Given the description of an element on the screen output the (x, y) to click on. 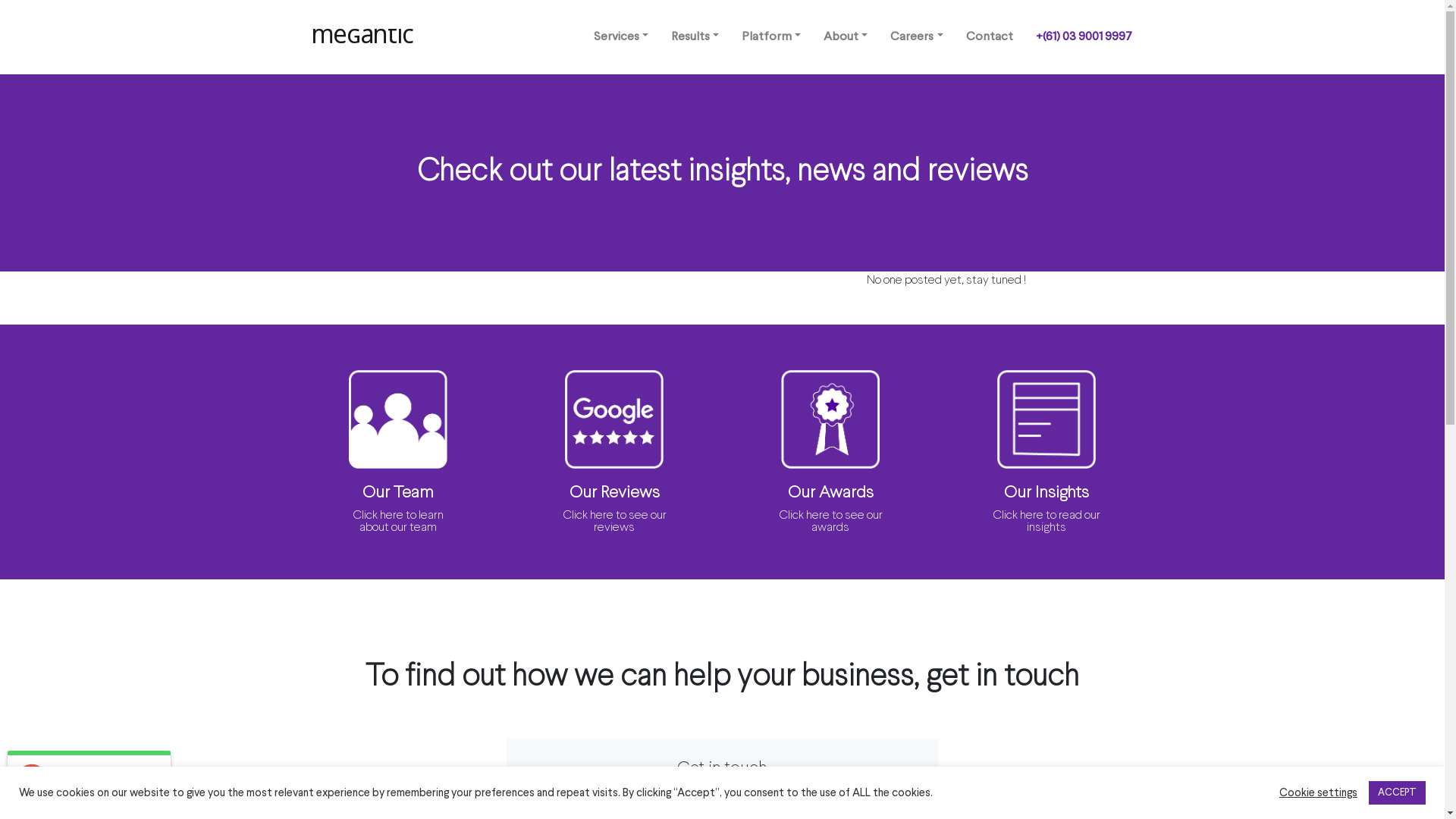
Cookie settings Element type: text (1318, 792)
Services Element type: text (620, 37)
ACCEPT Element type: text (1396, 792)
Results Element type: text (694, 37)
Our Team
Click here to learn
about our team Element type: text (398, 476)
megantic Element type: text (363, 37)
About Element type: text (845, 37)
Contact Element type: text (988, 37)
Our Insights
Click here to read our
insights Element type: text (1045, 476)
Our Reviews
Click here to see our
reviews Element type: text (613, 476)
Careers Element type: text (915, 37)
Our Awards
Click here to see our
awards Element type: text (830, 476)
Platform Element type: text (771, 37)
+(61) 03 9001 9997 Element type: text (1082, 37)
